Given the description of an element on the screen output the (x, y) to click on. 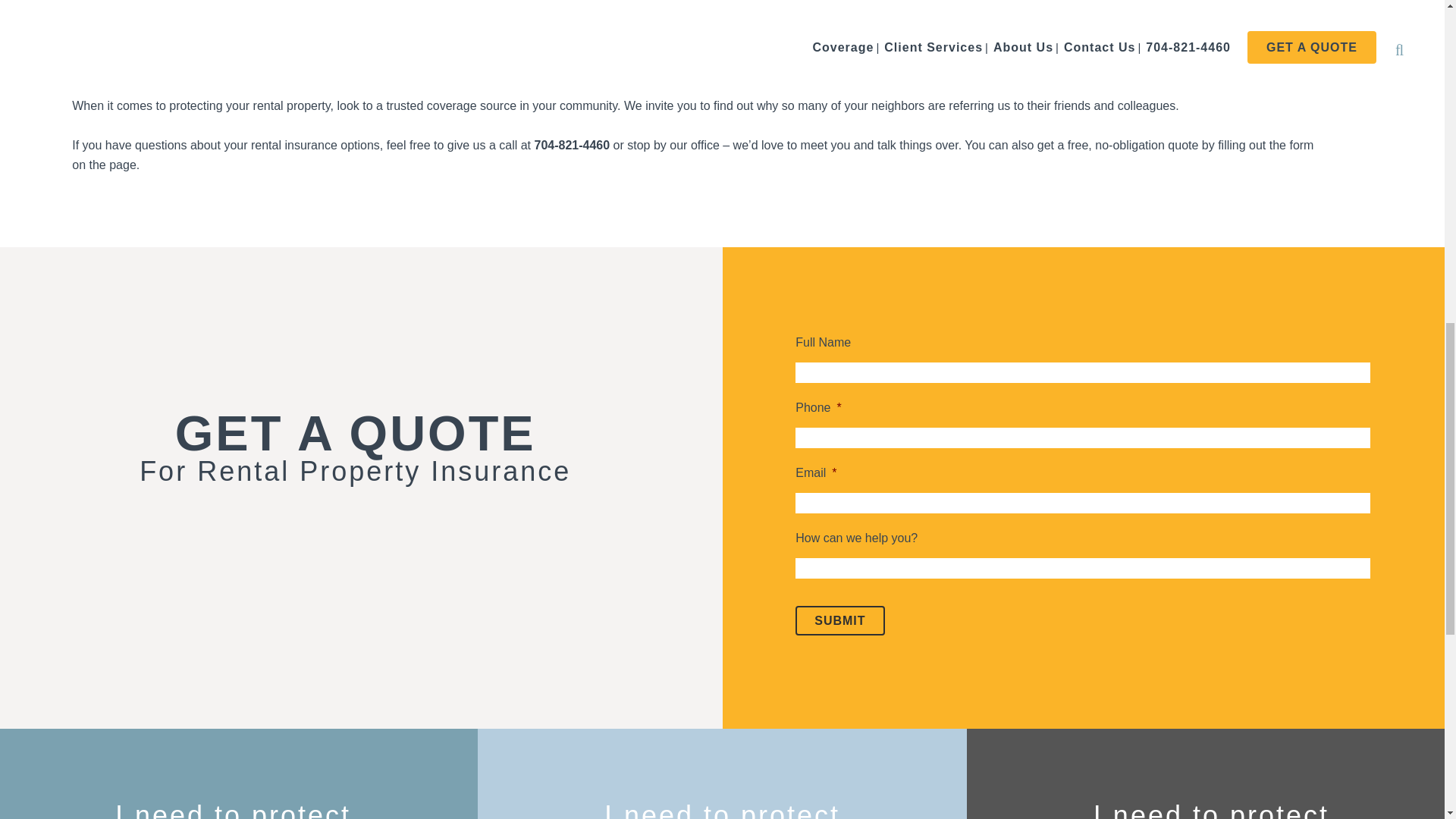
Submit (838, 620)
